Given the description of an element on the screen output the (x, y) to click on. 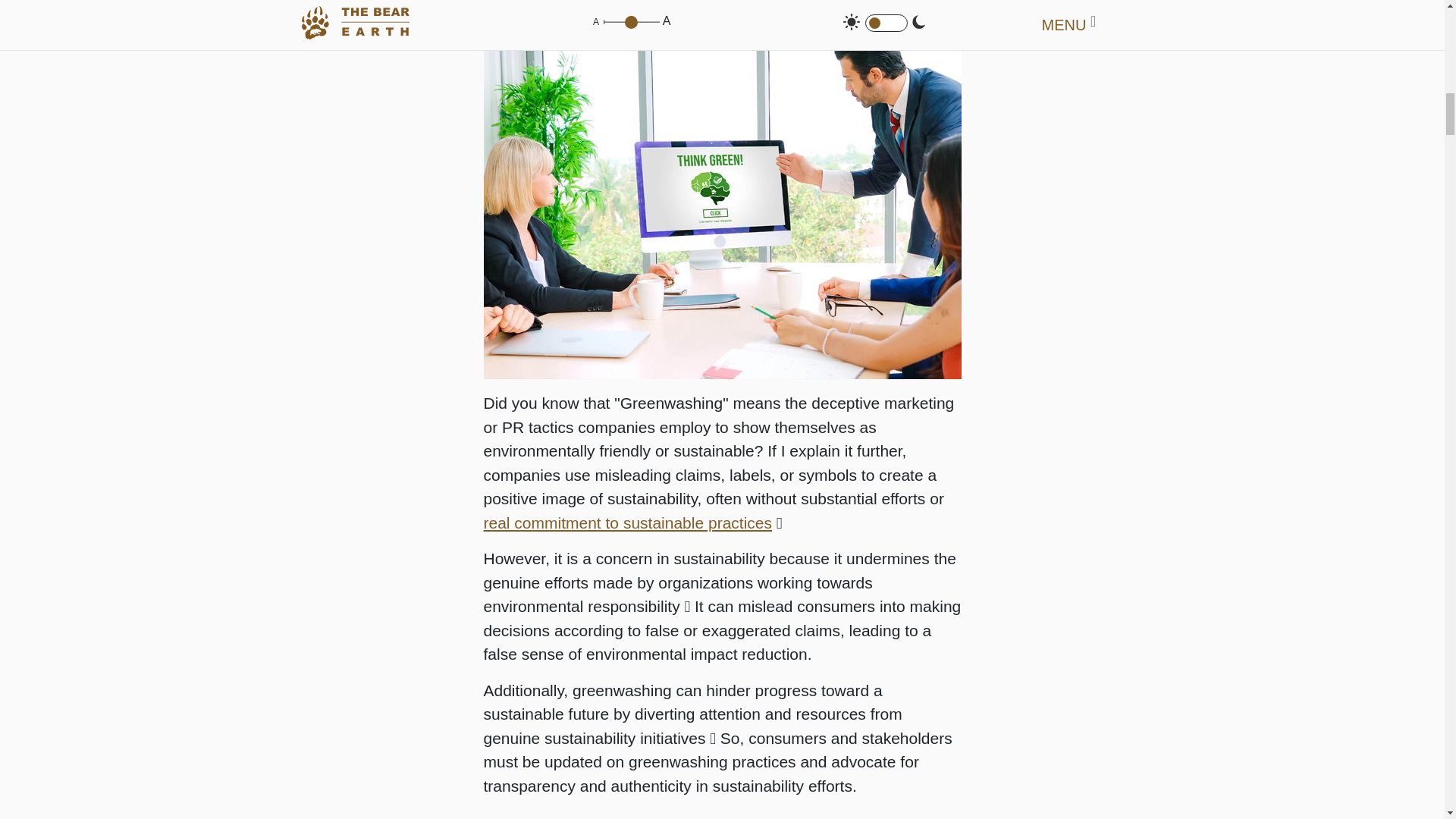
real commitment to sustainable practices (628, 522)
